Given the description of an element on the screen output the (x, y) to click on. 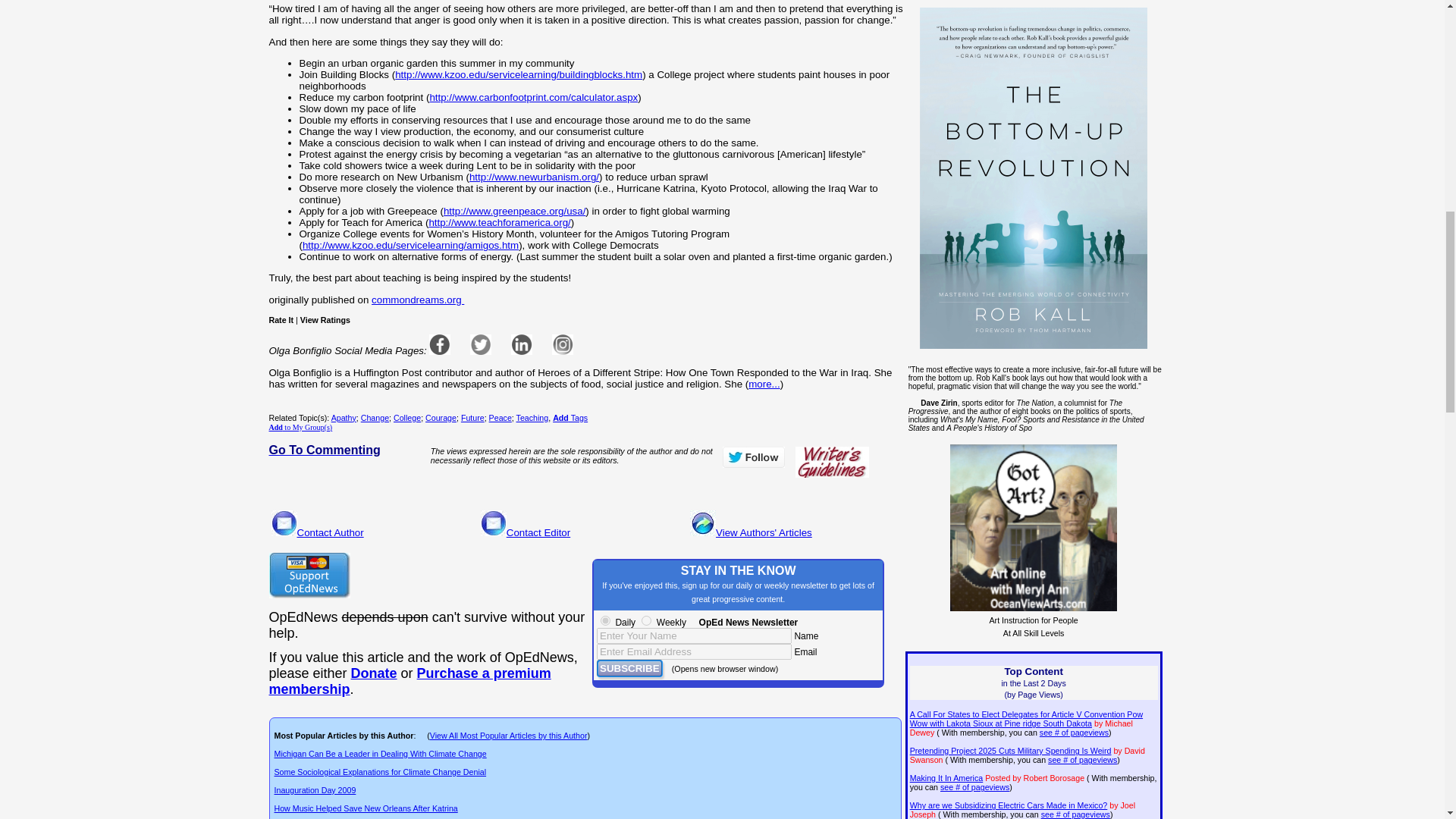
Change (374, 417)
Facebook page url on login Profile not filled in (439, 343)
-- (373, 672)
Rate It (280, 319)
Follow Me on Twitter (753, 456)
Instagram page url on login Profile not filled in (562, 343)
Writers Guidelines (831, 462)
Enter Your Name (694, 635)
College (406, 417)
SUBSCRIBE (629, 668)
